Given the description of an element on the screen output the (x, y) to click on. 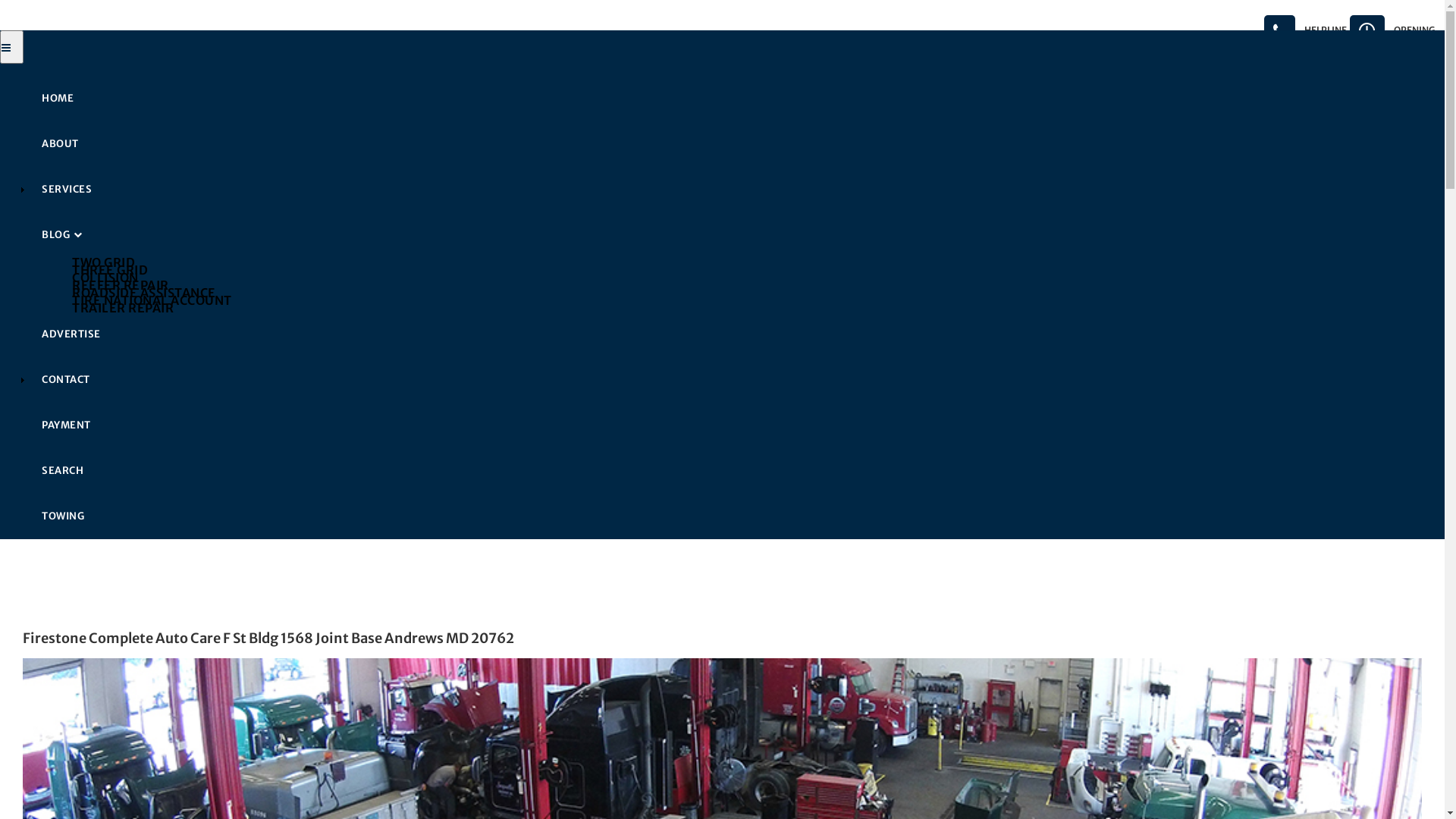
PAYMENT Element type: text (737, 424)
TWO GRID Element type: text (752, 261)
SEARCH Element type: text (737, 469)
TIRE NATIONAL ACCOUNT Element type: text (752, 299)
Skip to main content Element type: text (0, 0)
CONTACT Element type: text (737, 378)
TRAILER REPAIR Element type: text (752, 306)
BLOG Element type: text (737, 234)
COLLISION Element type: text (752, 276)
ABOUT Element type: text (737, 143)
THREE GRID Element type: text (752, 269)
ROADSIDE ASSISTANCE Element type: text (752, 291)
TOWING Element type: text (737, 515)
ADVERTISE Element type: text (737, 333)
REEFER REPAIR Element type: text (752, 284)
SERVICES Element type: text (737, 189)
HOME Element type: text (737, 98)
